Given the description of an element on the screen output the (x, y) to click on. 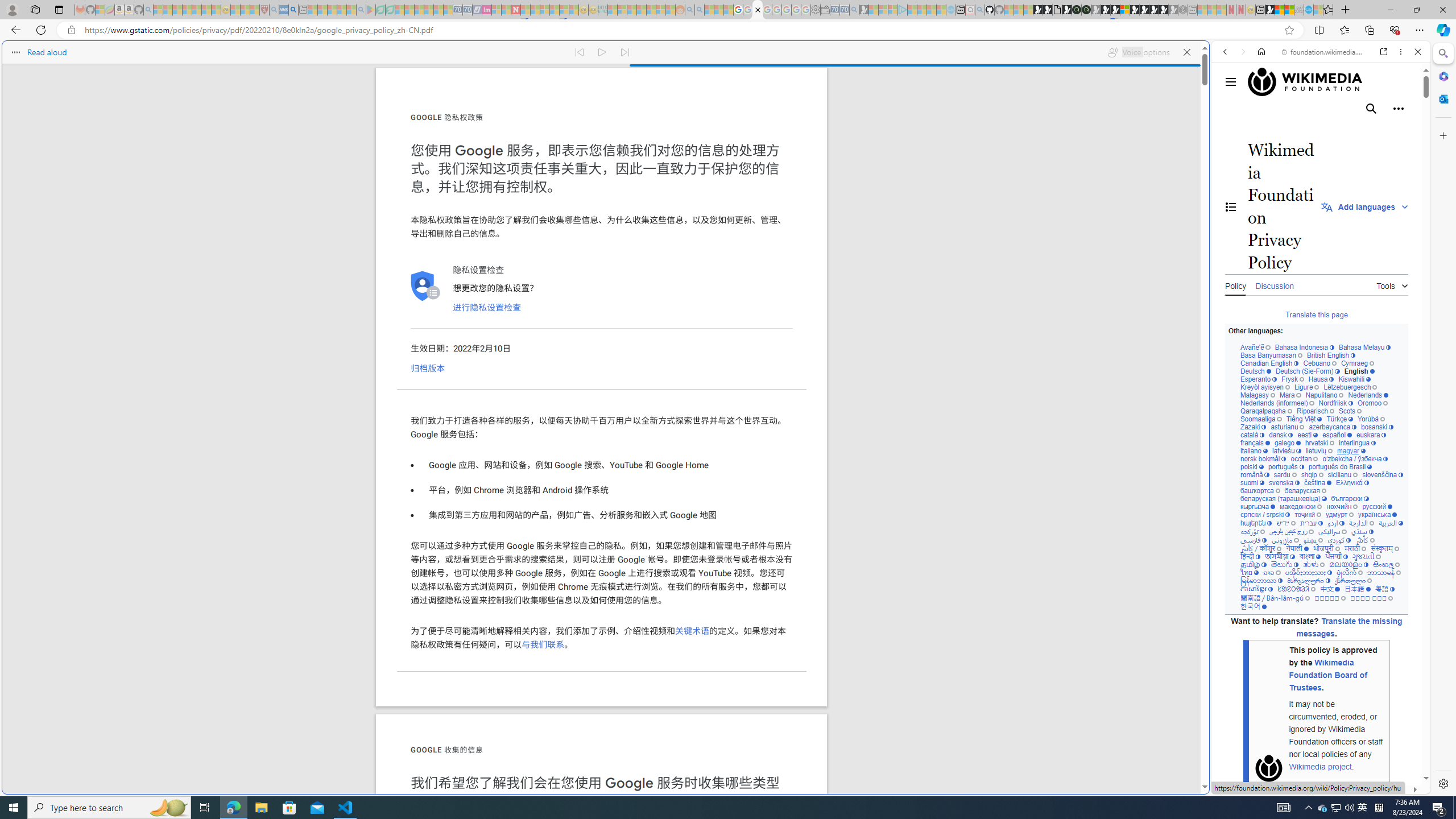
Close read aloud (1186, 52)
Future Focus Report 2024 (1085, 9)
interlingua (1357, 442)
euskara (1370, 434)
dansk (1280, 434)
Oromoo (1372, 403)
SEARCH TOOLS (1350, 130)
utah sues federal government - Search (292, 9)
